Given the description of an element on the screen output the (x, y) to click on. 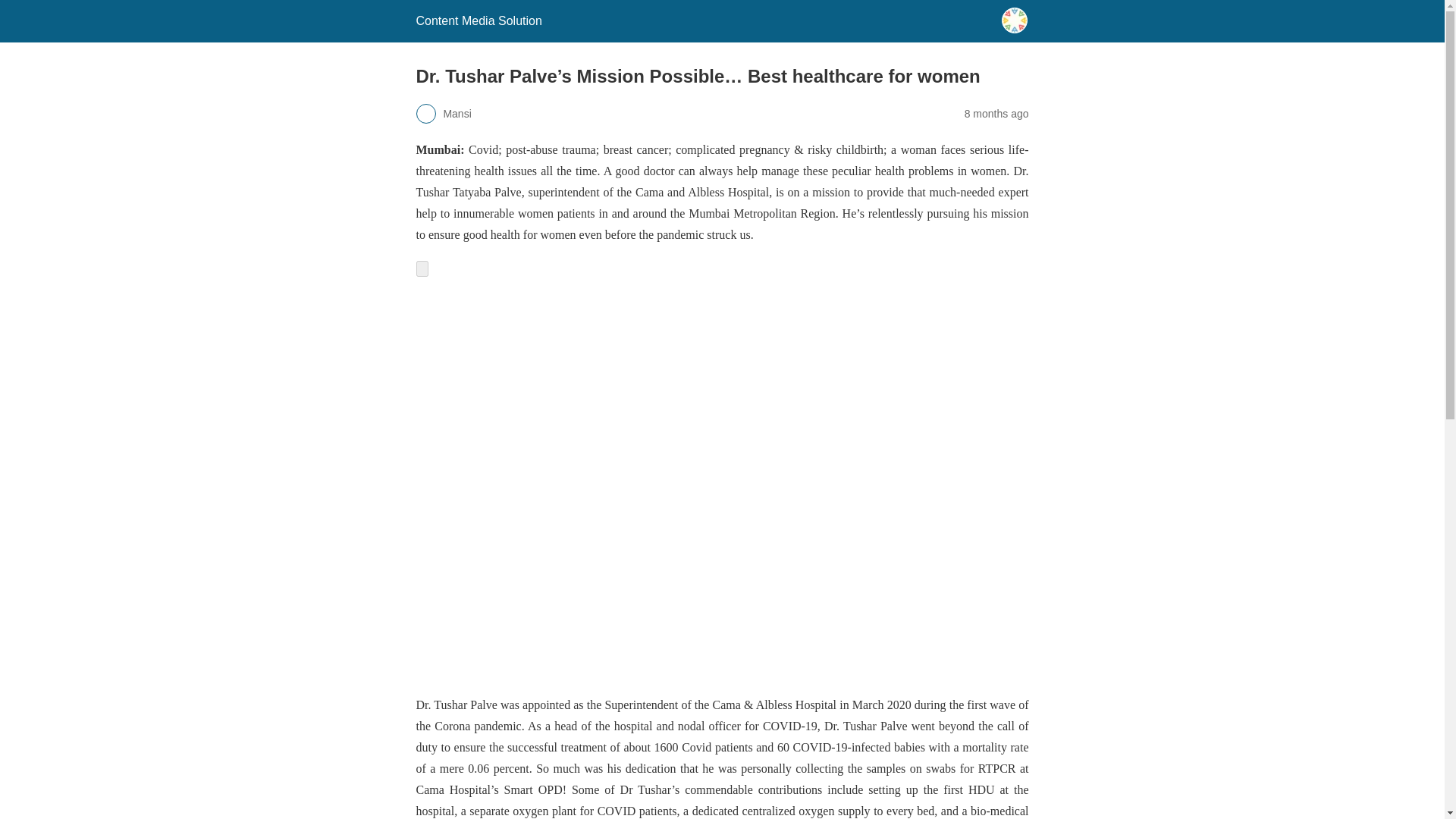
Content Media Solution (477, 20)
